Given the description of an element on the screen output the (x, y) to click on. 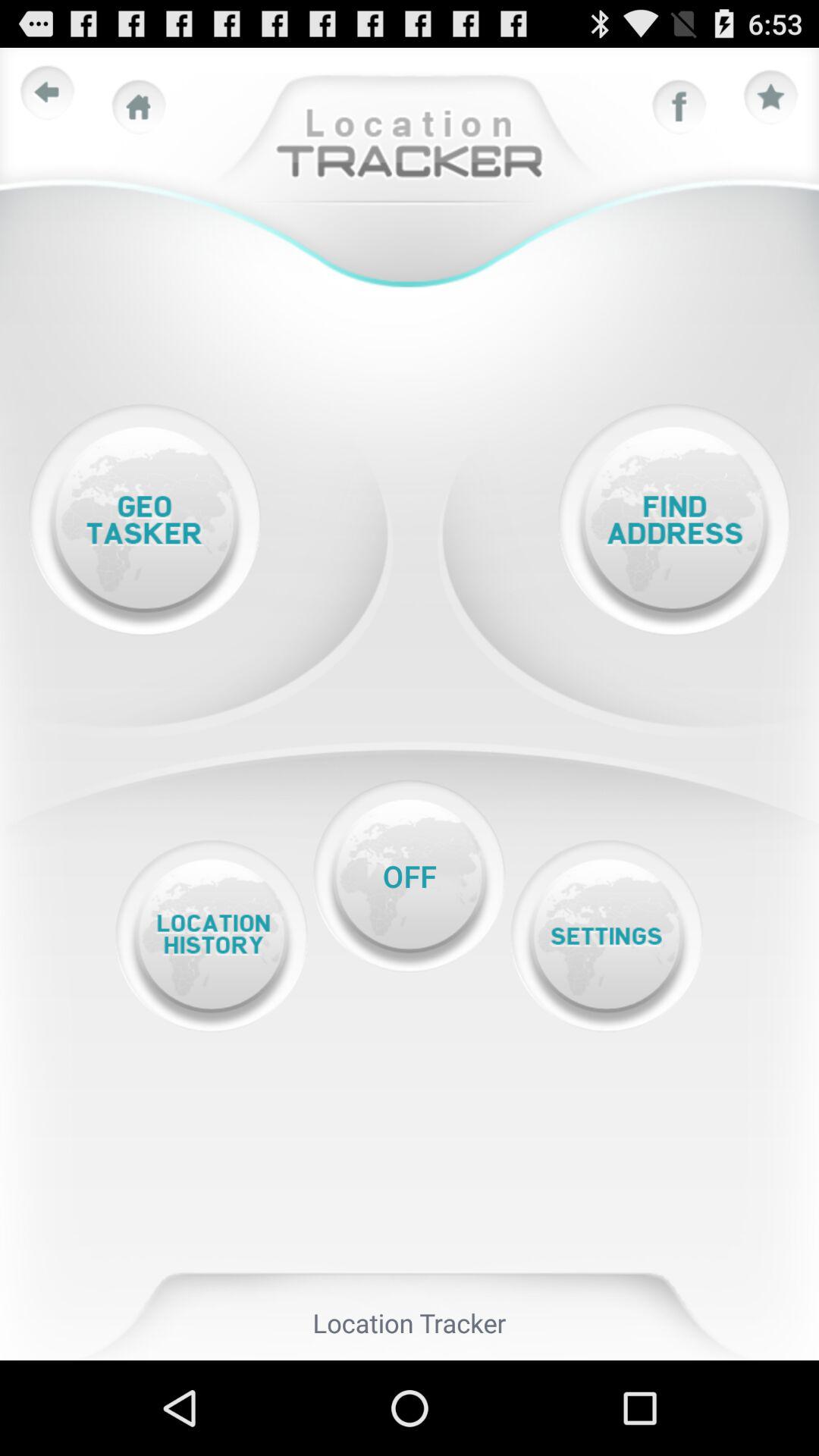
click to facebook option (679, 107)
